Given the description of an element on the screen output the (x, y) to click on. 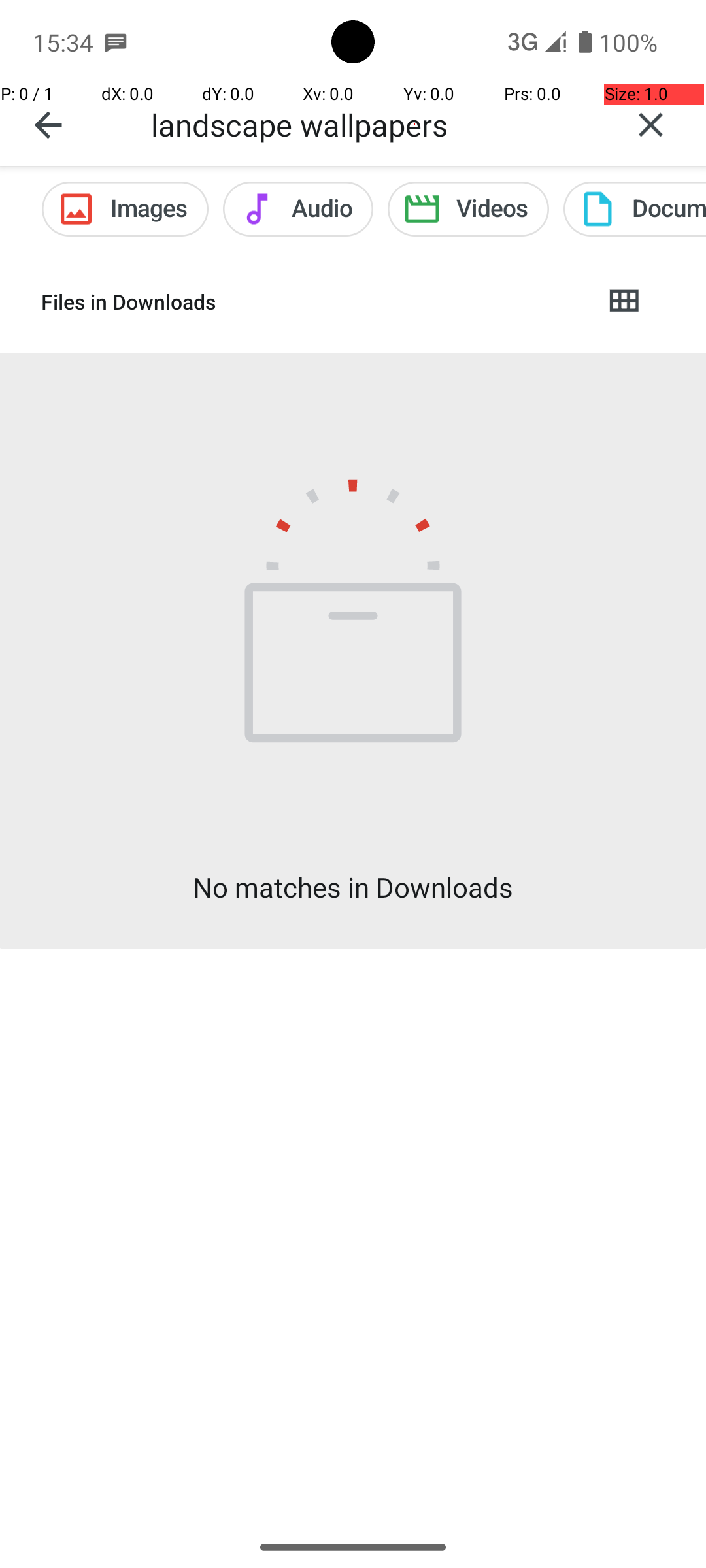
Files in Downloads Element type: android.widget.TextView (311, 301)
Grid view Element type: android.widget.TextView (622, 301)
landscape wallpapers Element type: android.widget.AutoCompleteTextView (373, 124)
Clear query Element type: android.widget.ImageView (650, 124)
Videos Element type: android.widget.CompoundButton (468, 208)
No matches in Downloads Element type: android.widget.TextView (353, 886)
